Given the description of an element on the screen output the (x, y) to click on. 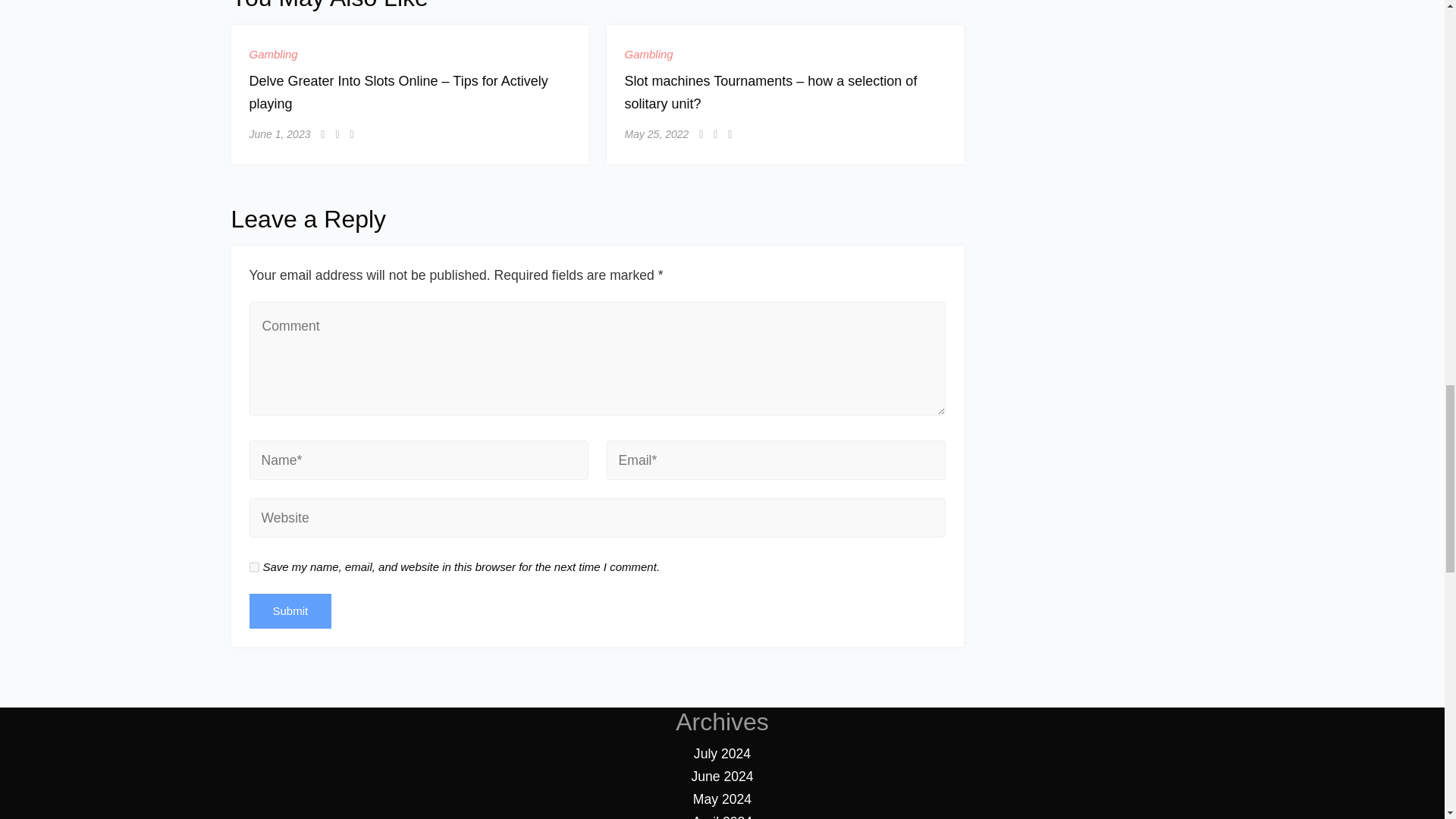
Submit (289, 610)
April 2024 (722, 816)
Gambling (272, 53)
June 1, 2023 (279, 133)
May 25, 2022 (656, 133)
June 2024 (721, 776)
Gambling (648, 53)
Submit (289, 610)
July 2024 (722, 753)
May 2024 (722, 798)
